Given the description of an element on the screen output the (x, y) to click on. 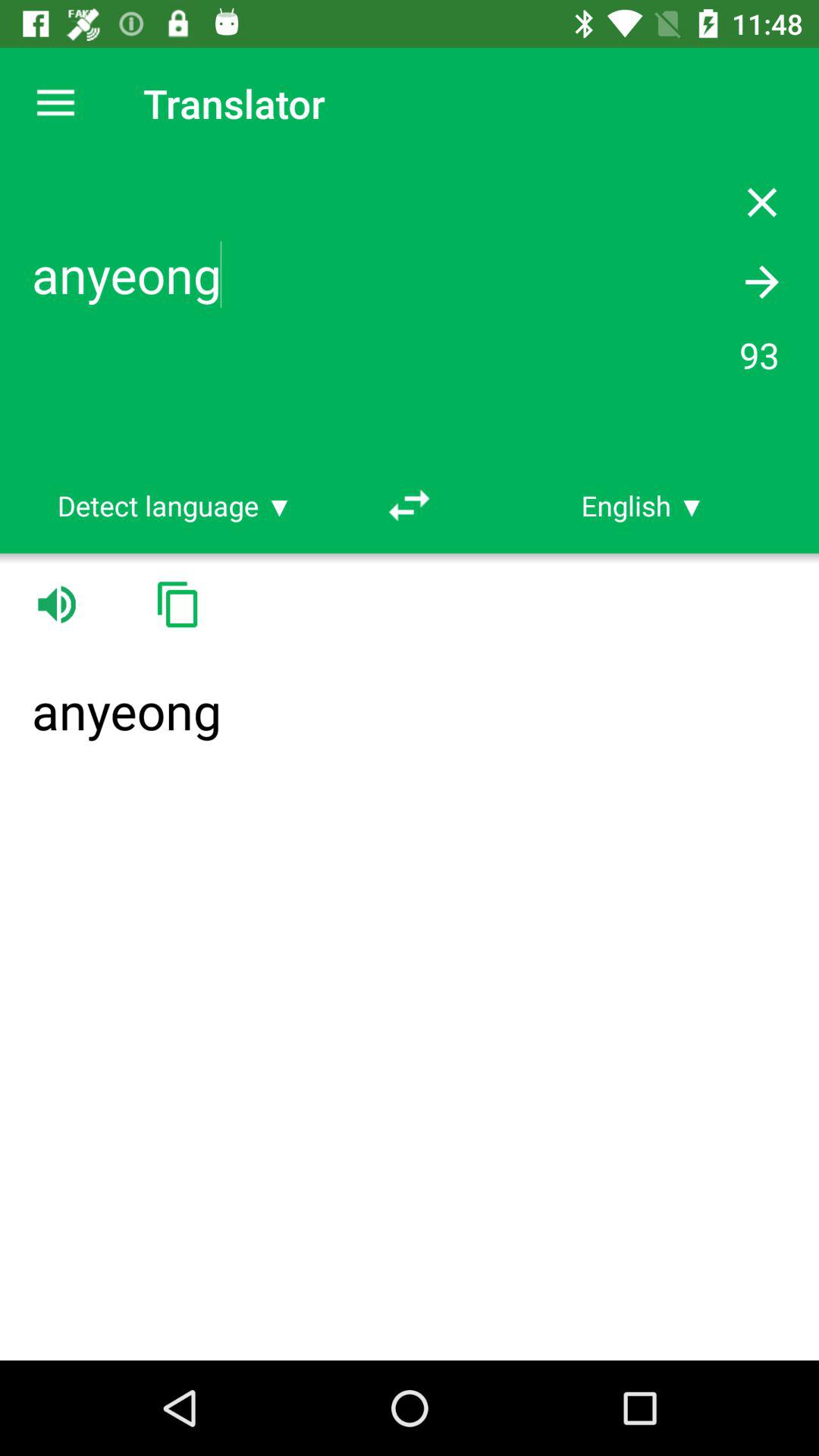
turn off item below the anyeong (175, 505)
